Given the description of an element on the screen output the (x, y) to click on. 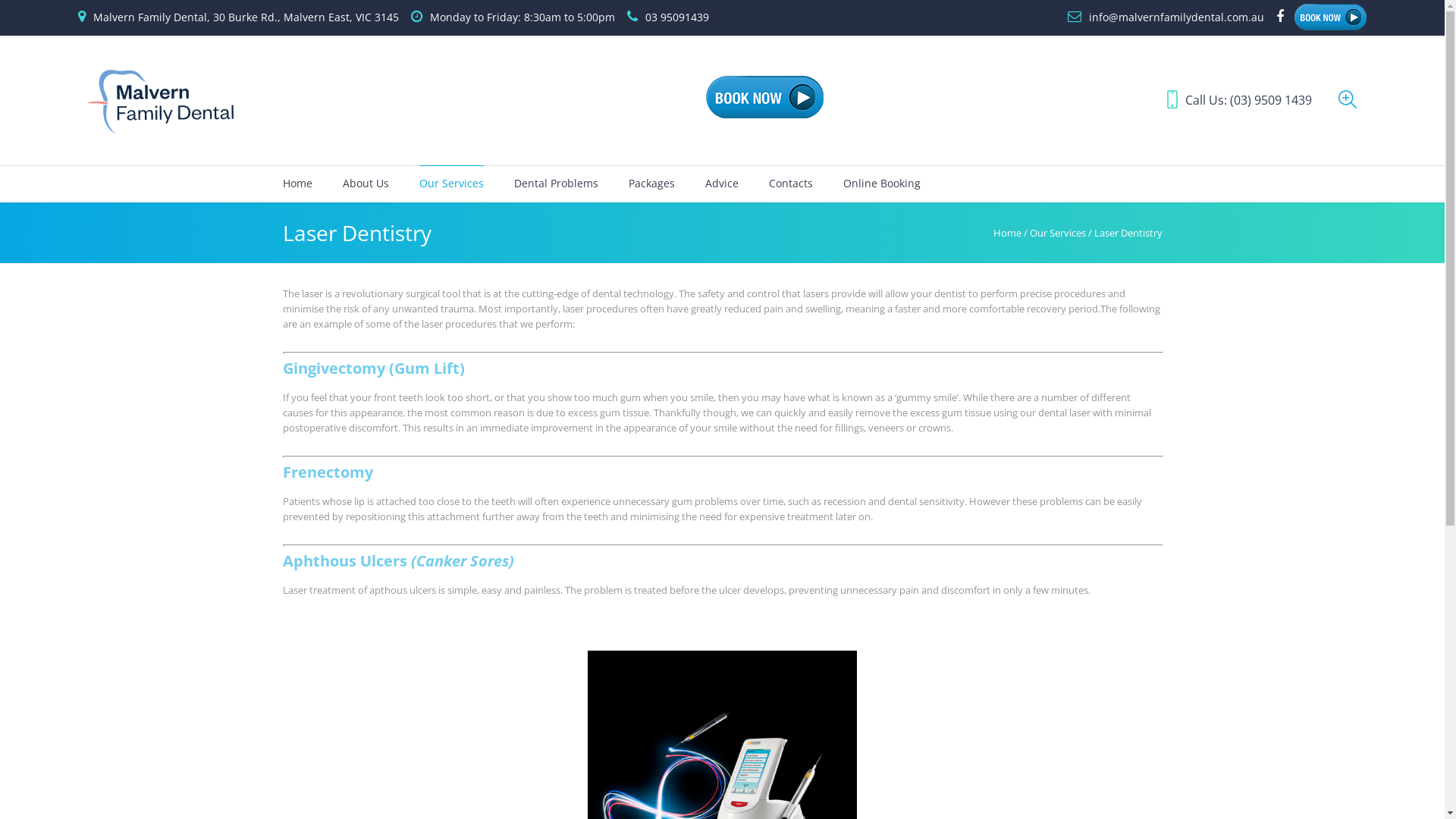
03 95091439 Element type: text (677, 16)
Online Booking Element type: text (881, 183)
Dental Problems Element type: text (556, 183)
info@malvernfamilydental.com.au Element type: text (1176, 16)
Our Services Element type: text (450, 183)
Contacts Element type: text (790, 183)
Advice Element type: text (721, 183)
Packages Element type: text (650, 183)
Our Services Element type: text (1057, 232)
Home Element type: text (1007, 232)
About Us Element type: text (365, 183)
Home Element type: text (296, 183)
